Given the description of an element on the screen output the (x, y) to click on. 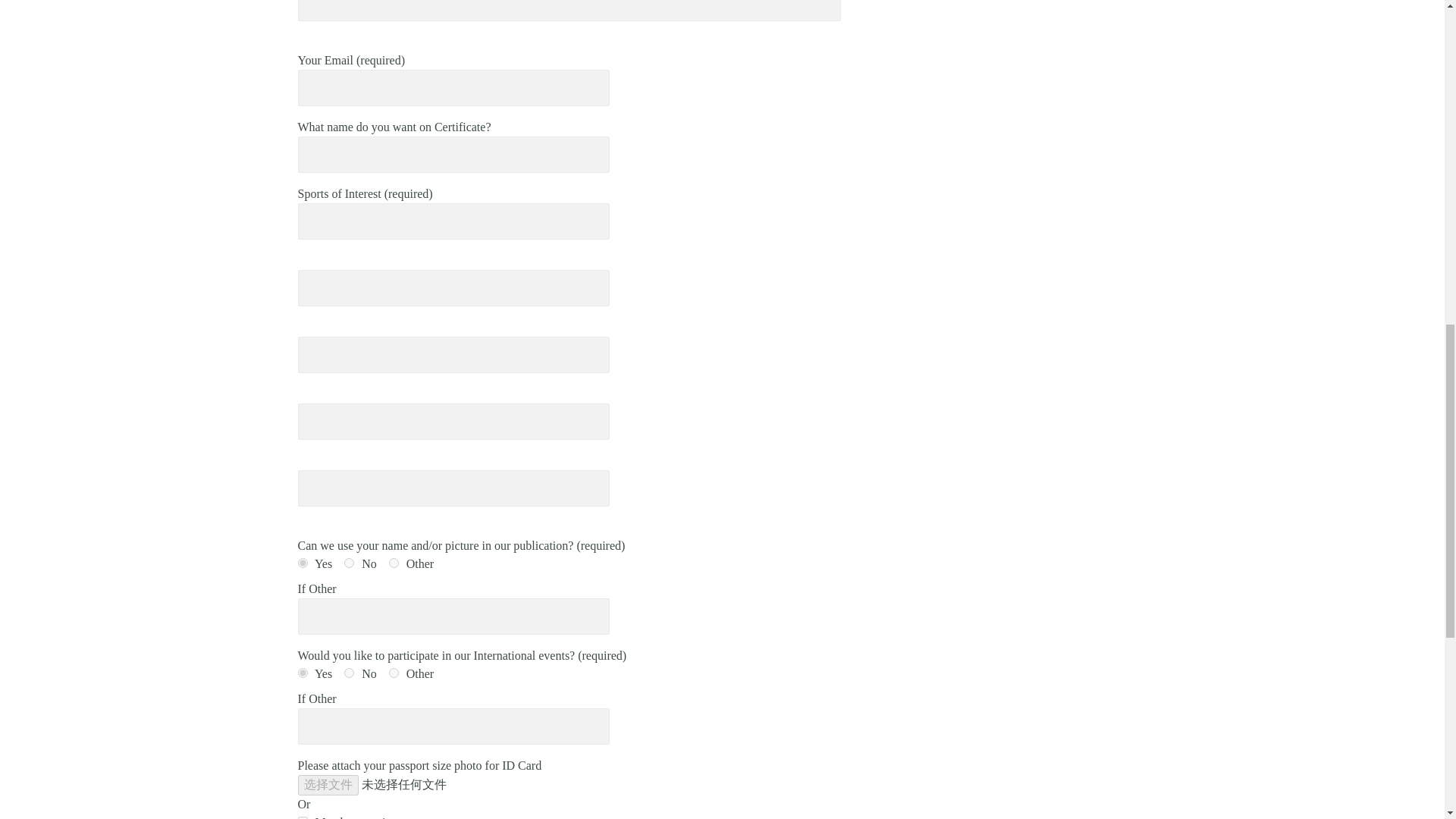
Yes (302, 673)
Yes (302, 562)
Other (393, 562)
No (348, 562)
